Given the description of an element on the screen output the (x, y) to click on. 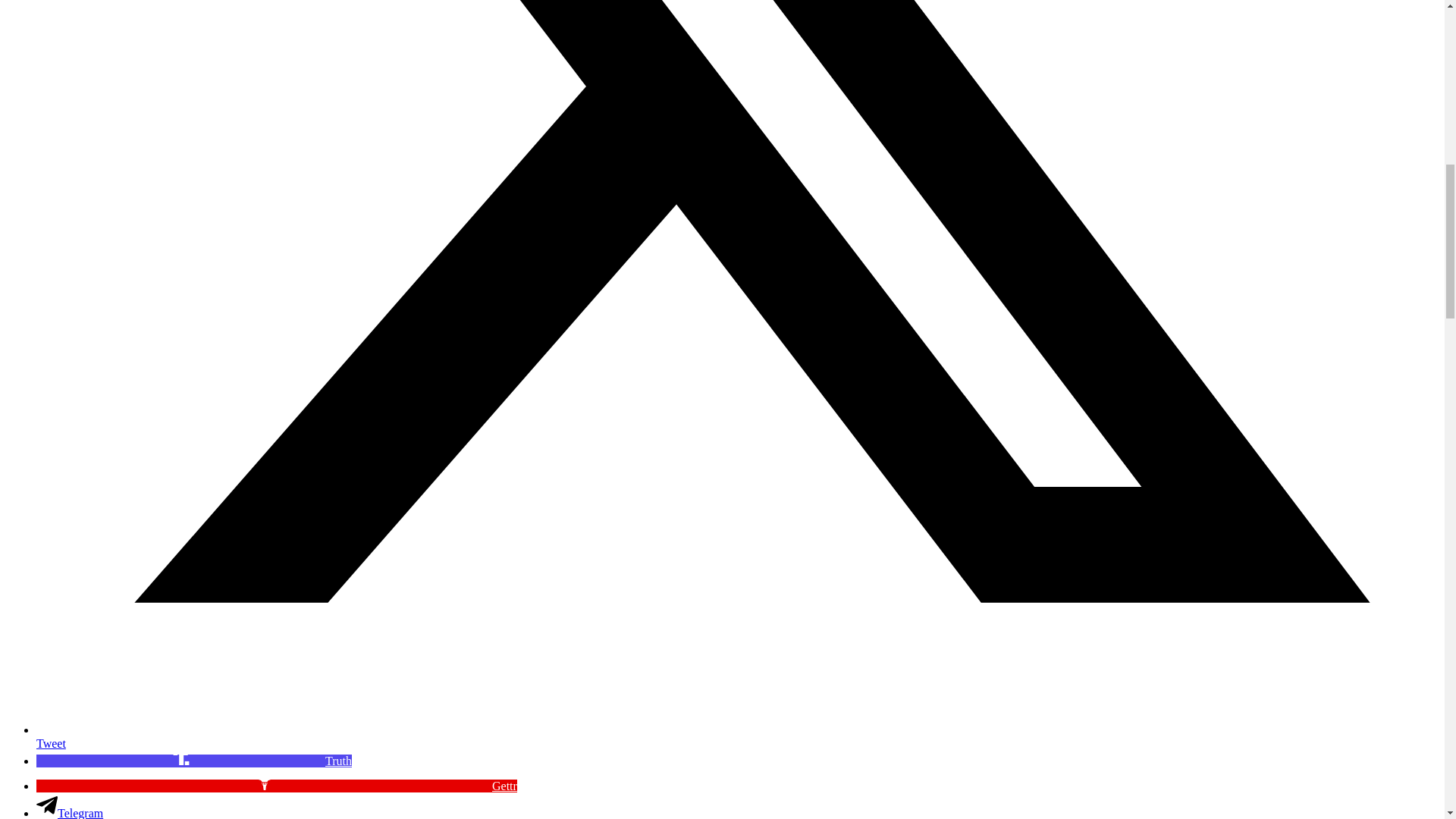
Gettr (276, 785)
Share on Gettr (276, 785)
Share on Telegram (69, 812)
Telegram (69, 812)
Truth (194, 760)
Share on Truth (194, 760)
